Given the description of an element on the screen output the (x, y) to click on. 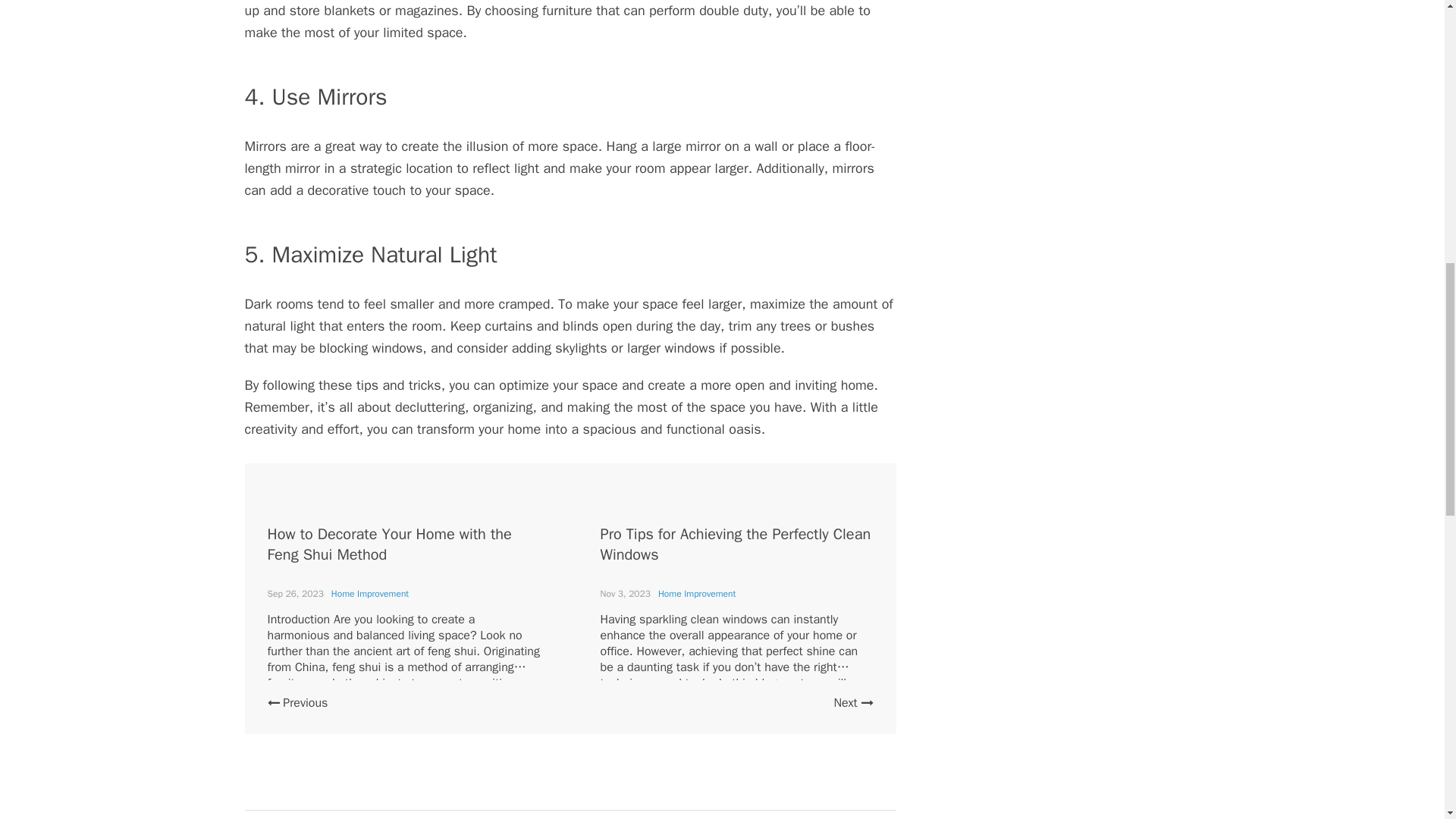
Pro Tips for Achieving the Perfectly Clean Windows (734, 544)
How to Decorate Your Home with the Feng Shui Method (388, 544)
Previous (296, 702)
Home Improvement (696, 593)
Home Improvement (370, 593)
Next (852, 702)
